Given the description of an element on the screen output the (x, y) to click on. 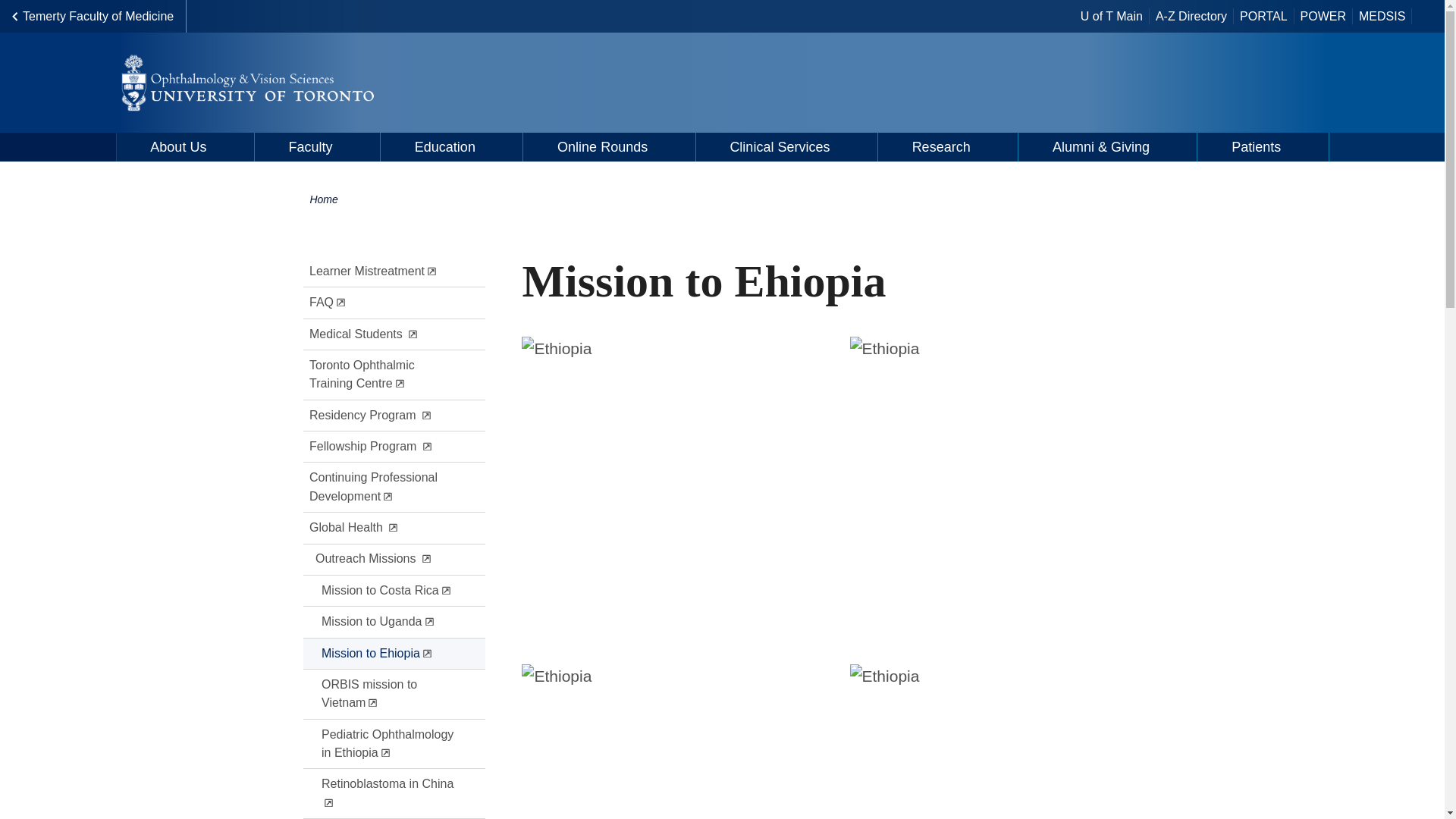
Skip to main content (11, 11)
U of T Main (1111, 16)
About Us (184, 146)
POWER (1323, 16)
Faculty (317, 146)
A-Z Directory (1191, 16)
Temerty Faculty of Medicine (93, 16)
Education (451, 146)
PORTAL (1263, 16)
MEDSIS (1381, 16)
